Given the description of an element on the screen output the (x, y) to click on. 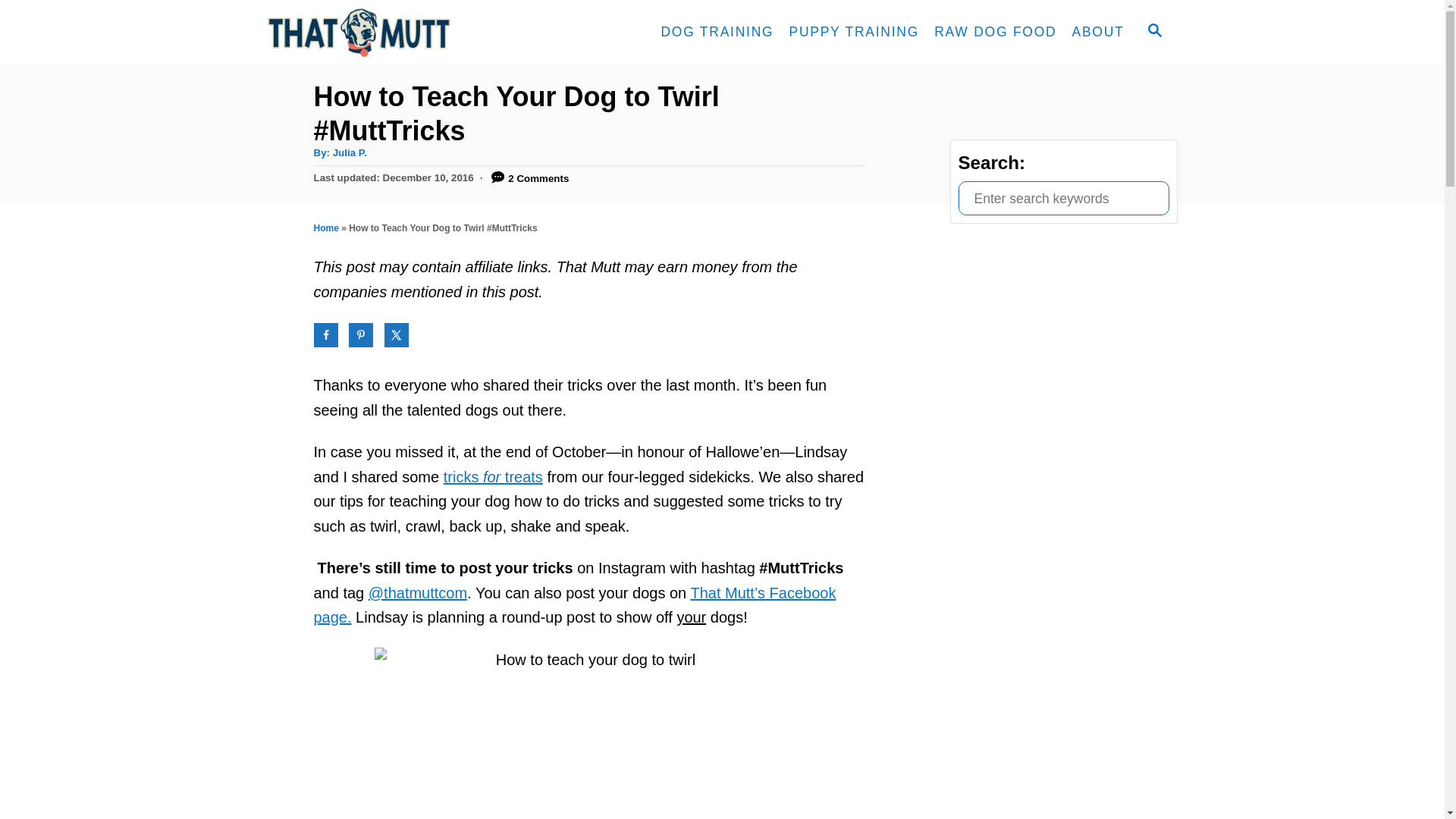
Save to Pinterest (360, 334)
PUPPY TRAINING (853, 32)
Home (326, 227)
Share on Facebook (325, 334)
Search (22, 22)
DOG TRAINING (716, 32)
SEARCH (1153, 31)
RAW DOG FOOD (995, 32)
tricks for treats (493, 476)
Share on X (396, 334)
